Given the description of an element on the screen output the (x, y) to click on. 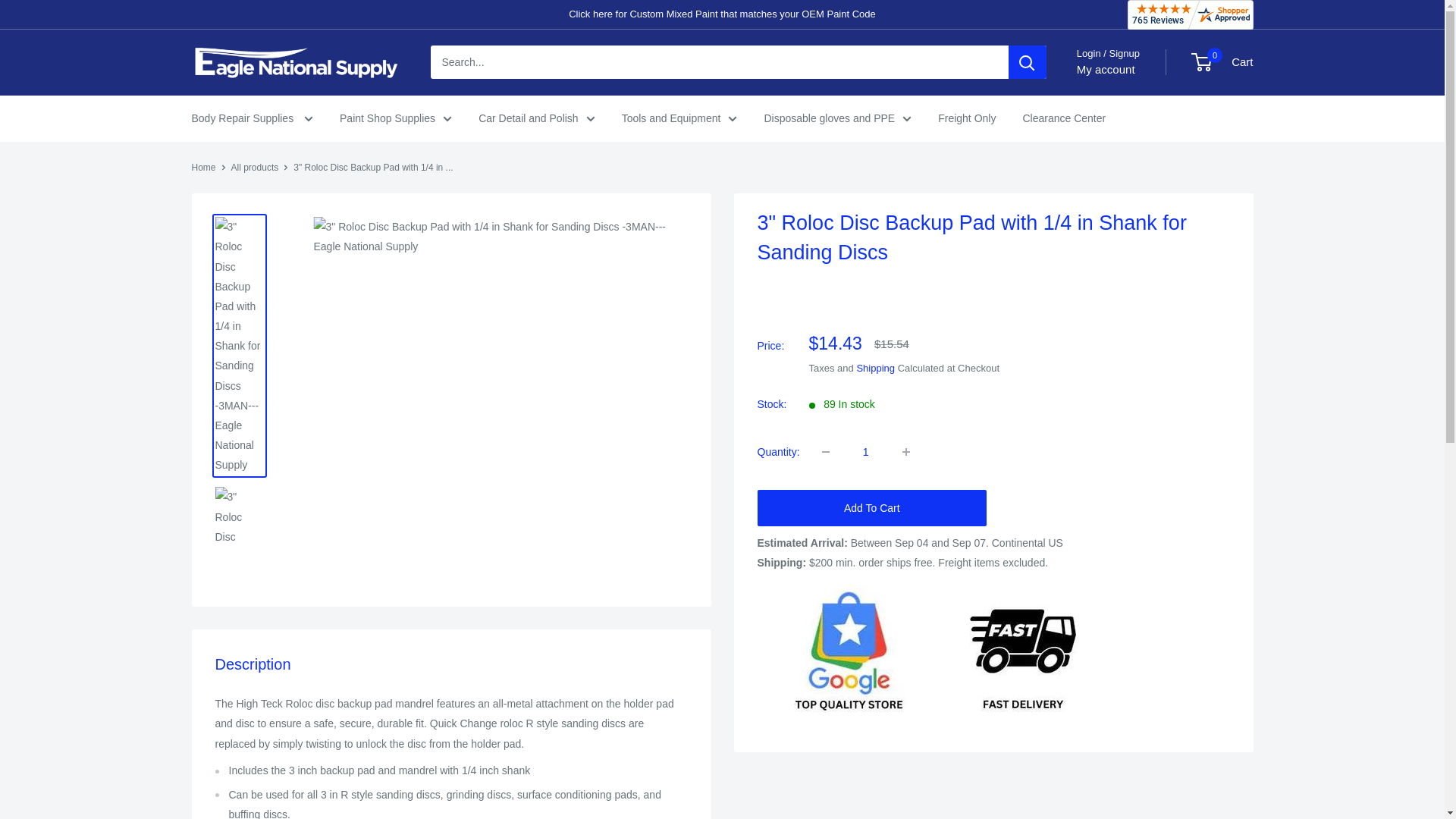
Increase quantity by 1 (905, 451)
1 (865, 451)
Decrease quantity by 1 (825, 451)
